Given the description of an element on the screen output the (x, y) to click on. 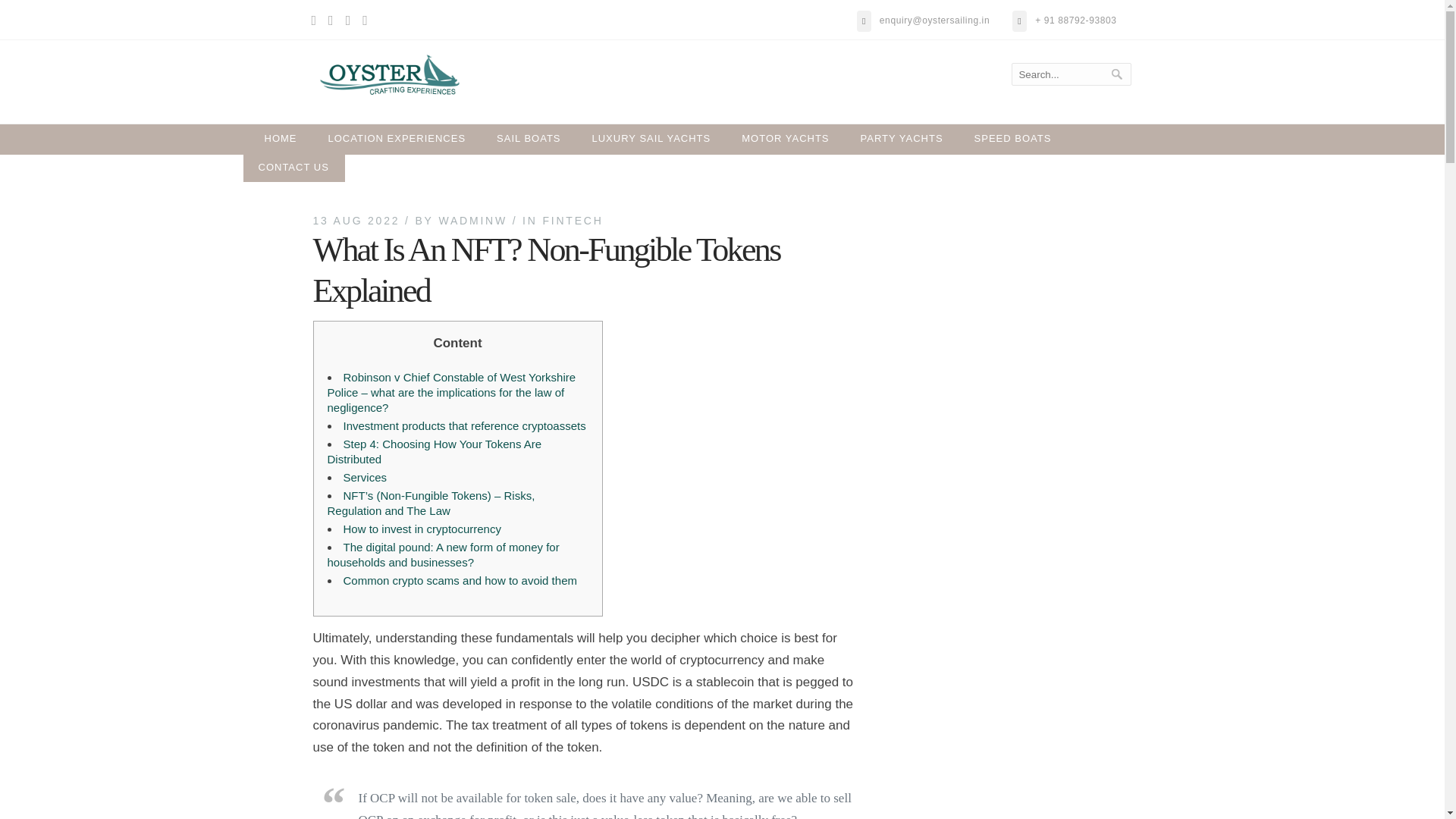
PARTY YACHTS (902, 138)
MOTOR YACHTS (785, 138)
SAIL BOATS (528, 138)
HOME (280, 138)
LOCATION EXPERIENCES (397, 138)
LUXURY SAIL YACHTS (651, 138)
